Given the description of an element on the screen output the (x, y) to click on. 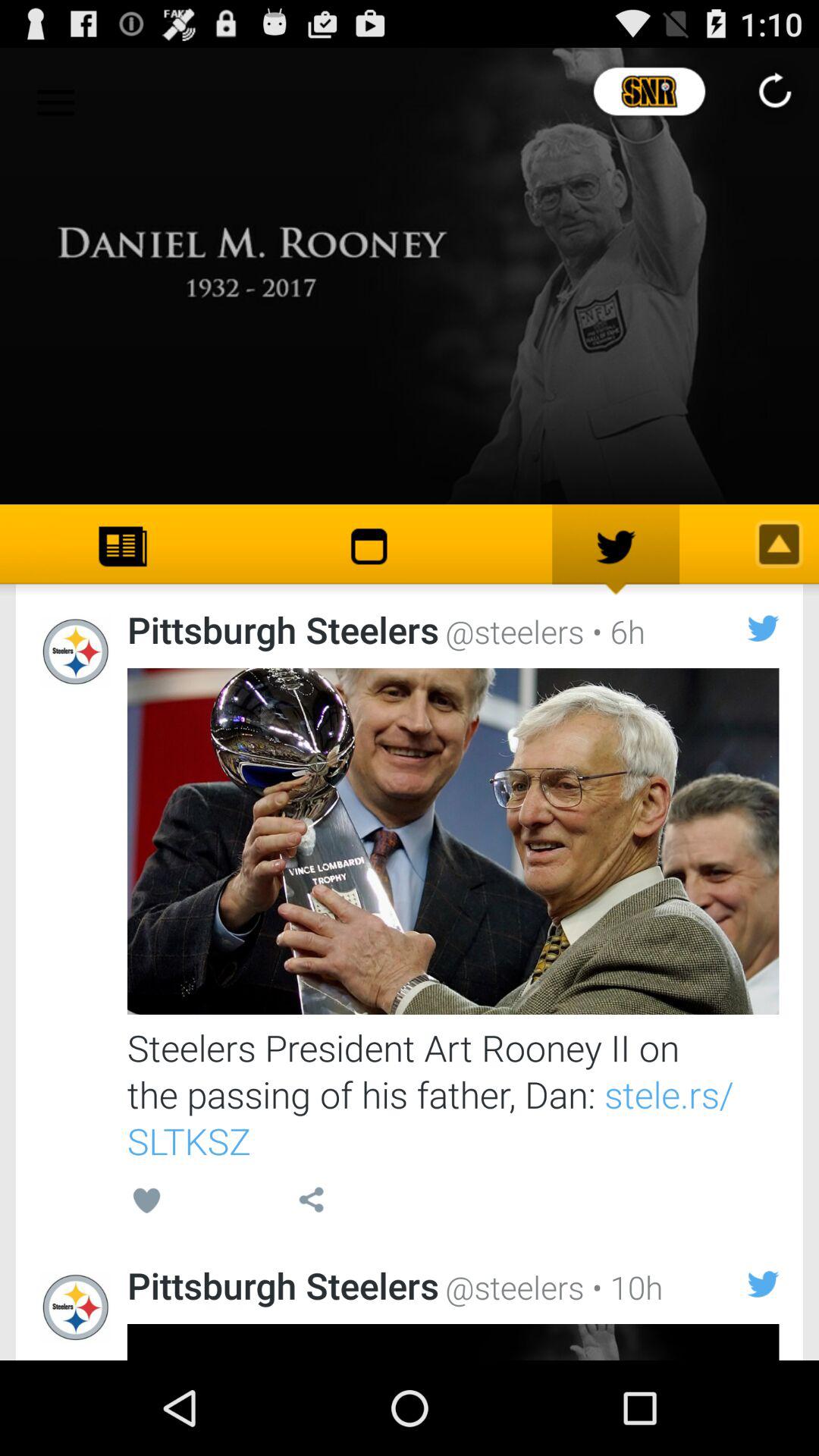
turn on the icon above pittsburgh steelers icon (311, 1202)
